Given the description of an element on the screen output the (x, y) to click on. 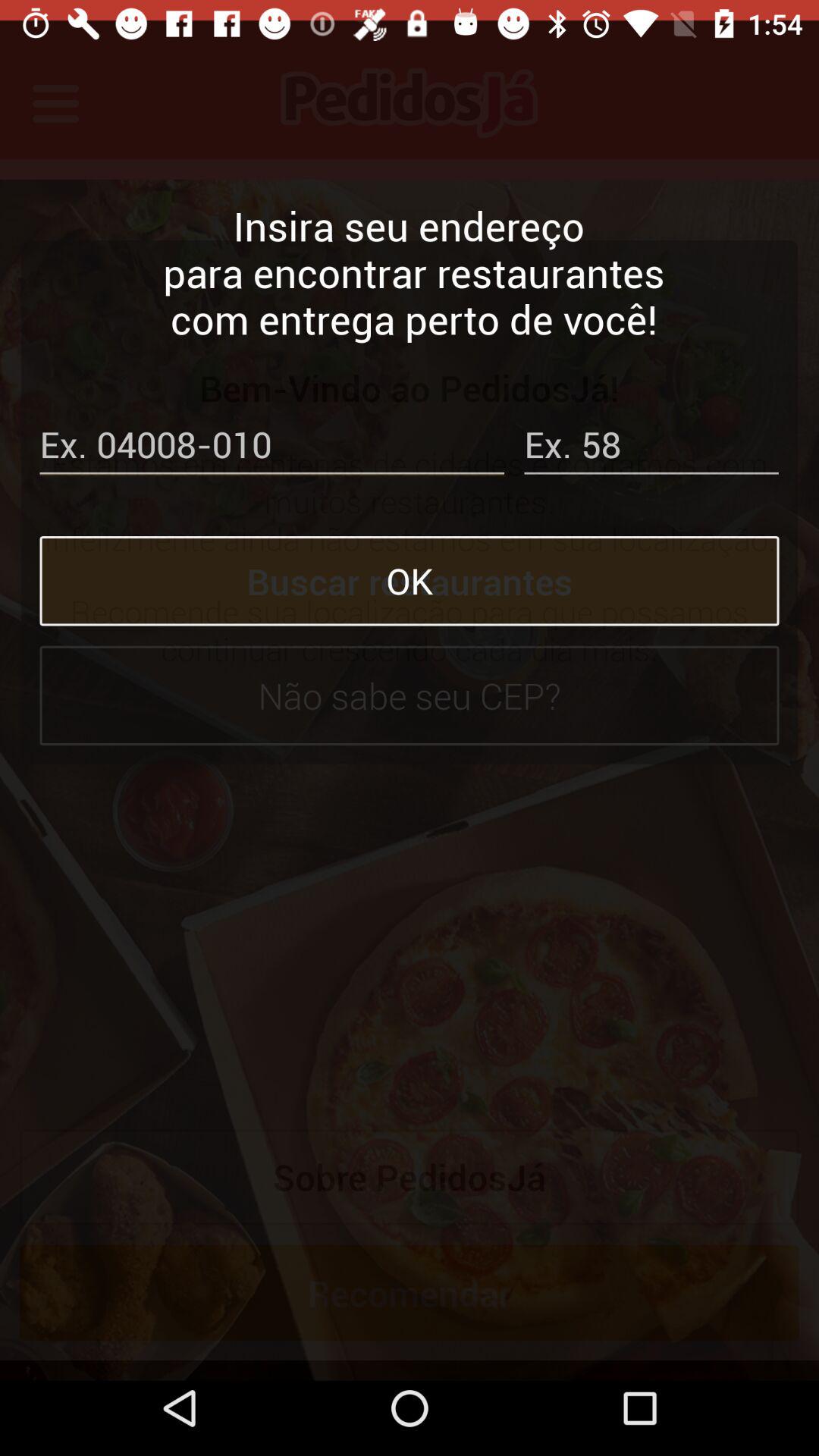
this function is search feature (271, 427)
